Given the description of an element on the screen output the (x, y) to click on. 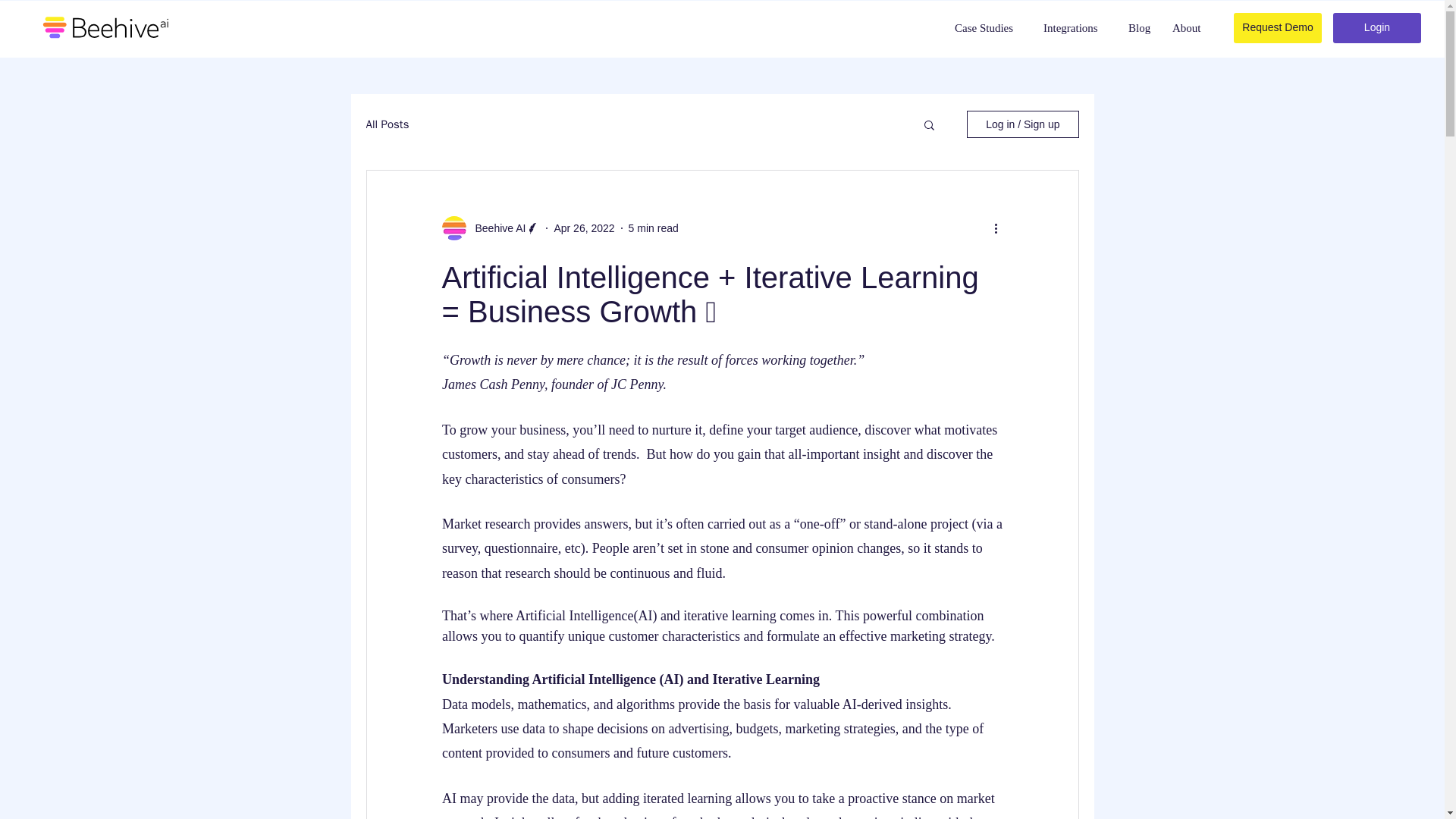
Integrations (1075, 28)
Request Demo (1277, 28)
Login (1377, 28)
Apr 26, 2022 (583, 227)
About (1187, 28)
Case Studies (988, 28)
All Posts (387, 124)
Blog (1139, 28)
Beehive AI (495, 227)
5 min read (653, 227)
